Given the description of an element on the screen output the (x, y) to click on. 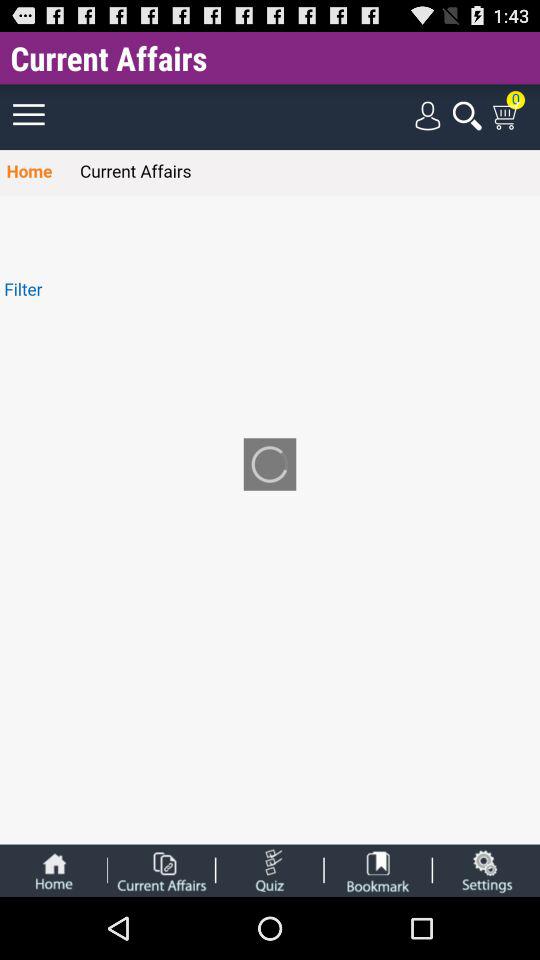
aba para abrir assuntos atuais (161, 870)
